Given the description of an element on the screen output the (x, y) to click on. 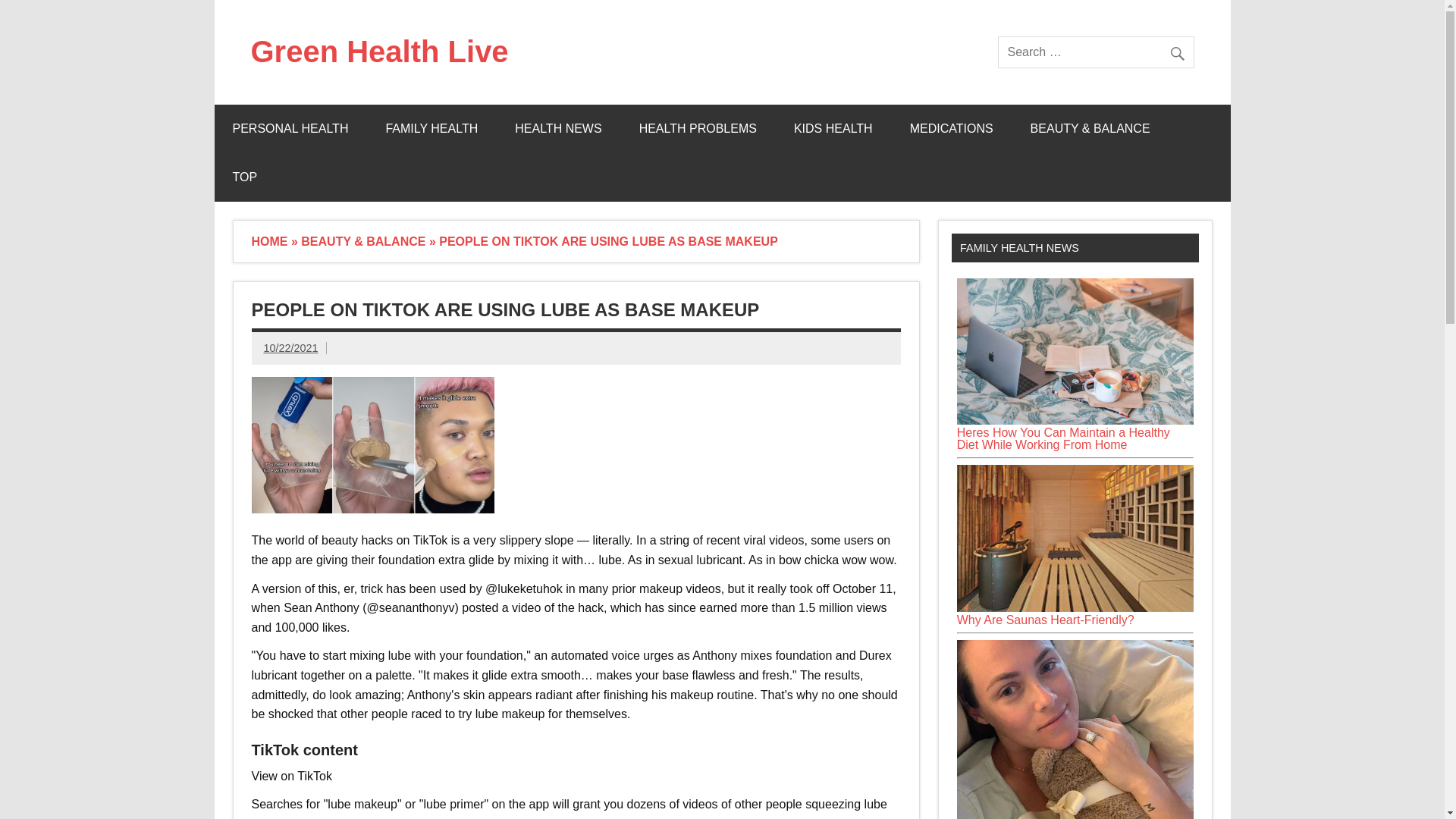
14:32 (290, 347)
Why Are Saunas Heart-Friendly? (1074, 607)
PERSONAL HEALTH (290, 128)
HOME (269, 241)
MEDICATIONS (951, 128)
TOP (244, 177)
HEALTH PROBLEMS (697, 128)
HEALTH NEWS (558, 128)
FAMILY HEALTH (431, 128)
Why Are Saunas Heart-Friendly? (1045, 619)
Why Are Saunas Heart-Friendly? (1074, 538)
